Given the description of an element on the screen output the (x, y) to click on. 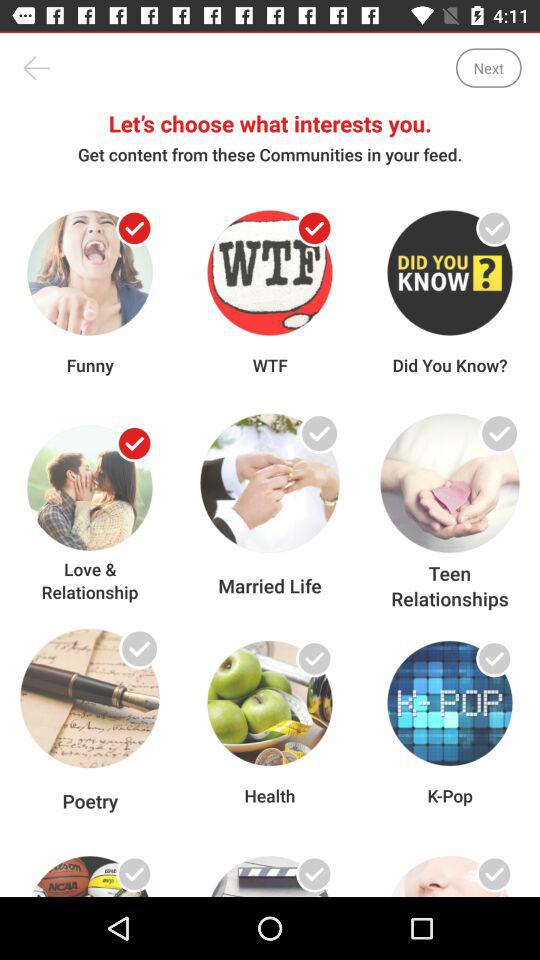
tap icon above let s choose (36, 68)
